Given the description of an element on the screen output the (x, y) to click on. 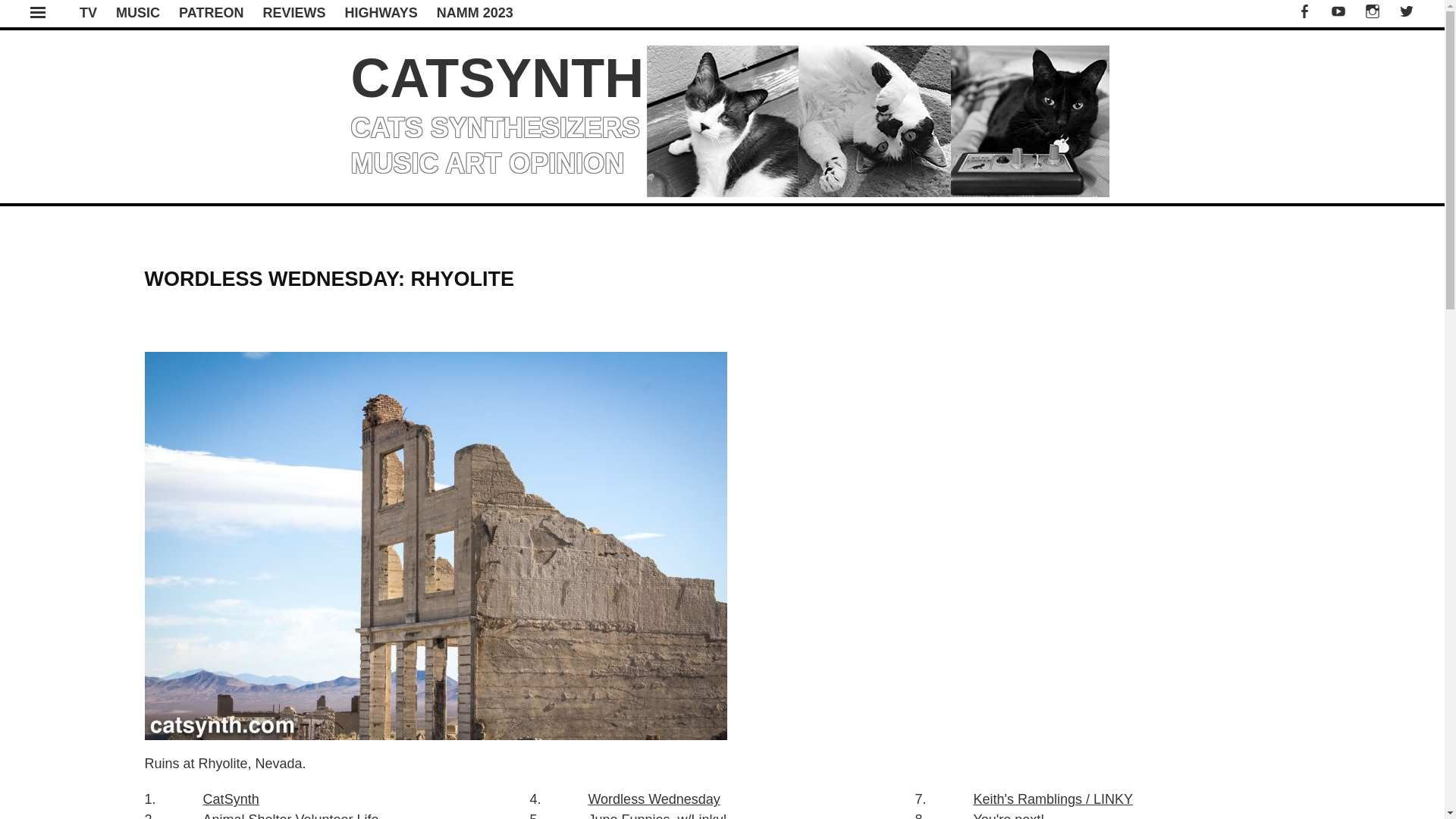
CATSYNTH (496, 77)
HIGHWAYS (379, 12)
TV (88, 12)
MUSIC (138, 12)
NAMM 2023 (474, 12)
PATREON (211, 12)
REVIEWS (293, 12)
